Given the description of an element on the screen output the (x, y) to click on. 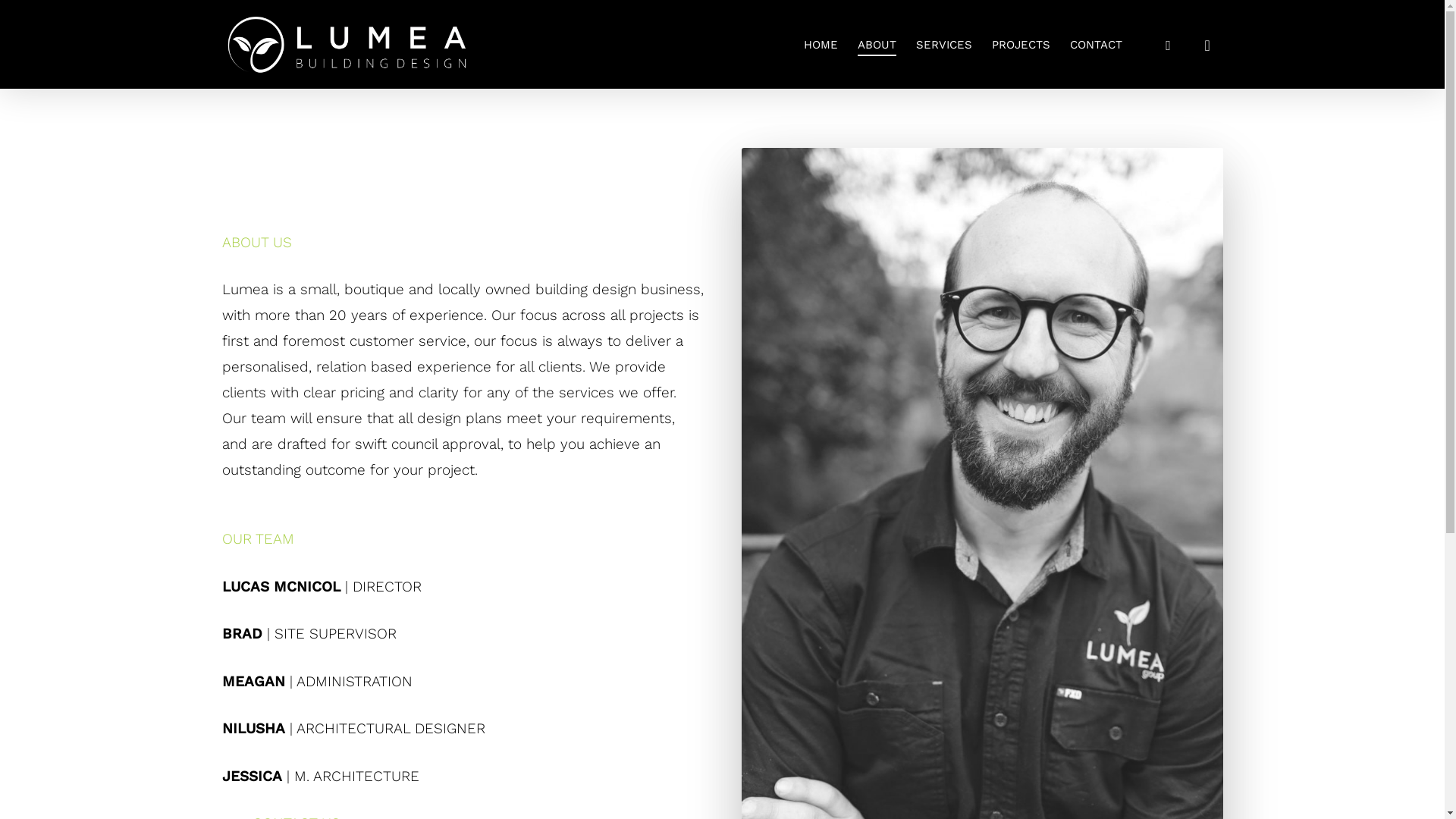
ABOUT Element type: text (875, 43)
HOME Element type: text (820, 43)
CONTACT Element type: text (1095, 43)
PROJECTS Element type: text (1020, 43)
SERVICES Element type: text (944, 43)
